Given the description of an element on the screen output the (x, y) to click on. 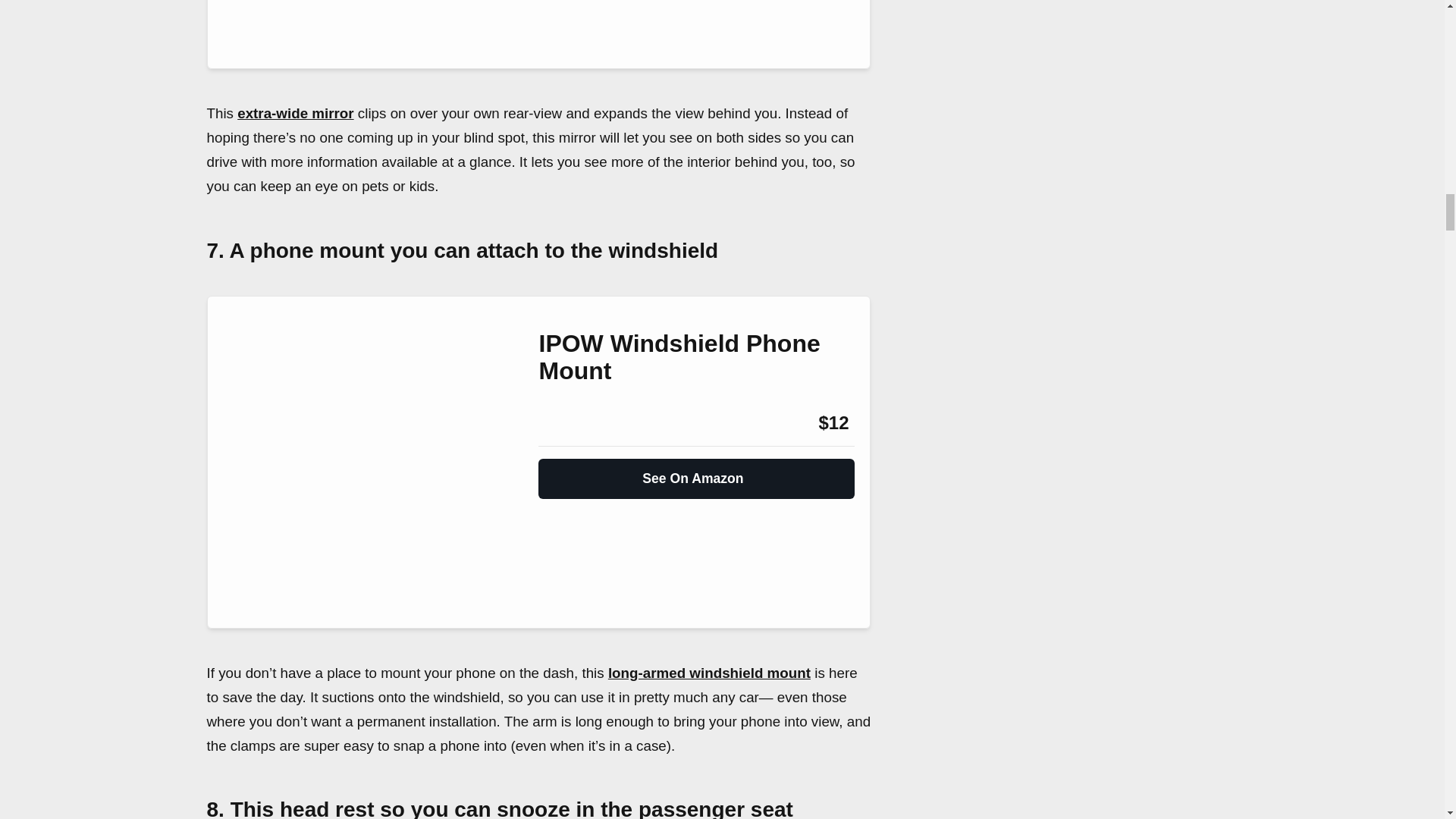
See On Amazon (696, 471)
long-armed windshield mount (709, 672)
extra-wide mirror (295, 113)
Amazon (579, 423)
